Given the description of an element on the screen output the (x, y) to click on. 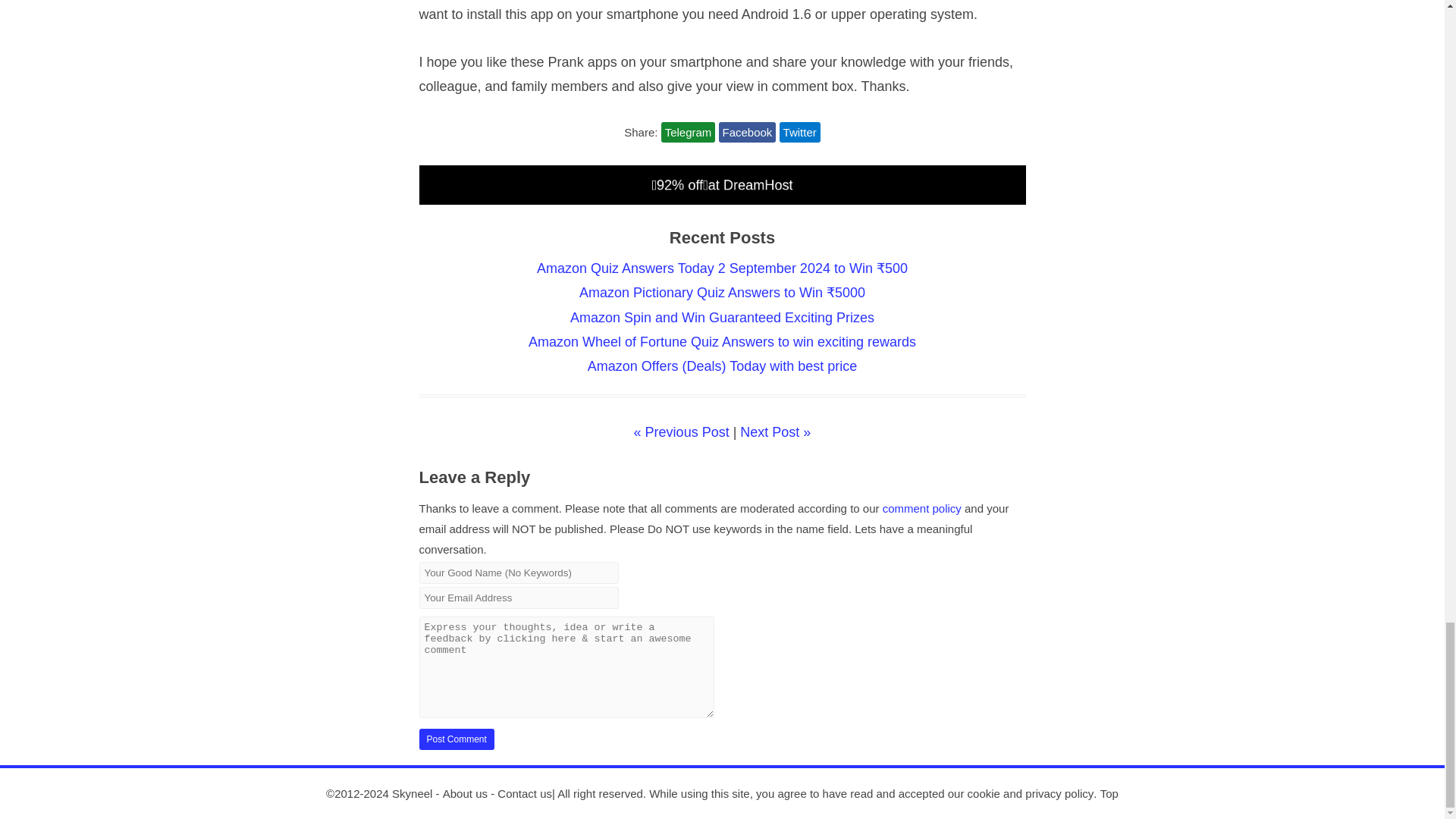
Read more about us (464, 793)
comment policy (921, 508)
Share on Facebook (747, 132)
Top (1109, 793)
Skyneel (411, 793)
Share on Telegram (688, 132)
Post Comment (456, 739)
Contact us (524, 793)
Amazon Spin and Win Guaranteed Exciting Prizes (722, 317)
Twitter (799, 132)
